Given the description of an element on the screen output the (x, y) to click on. 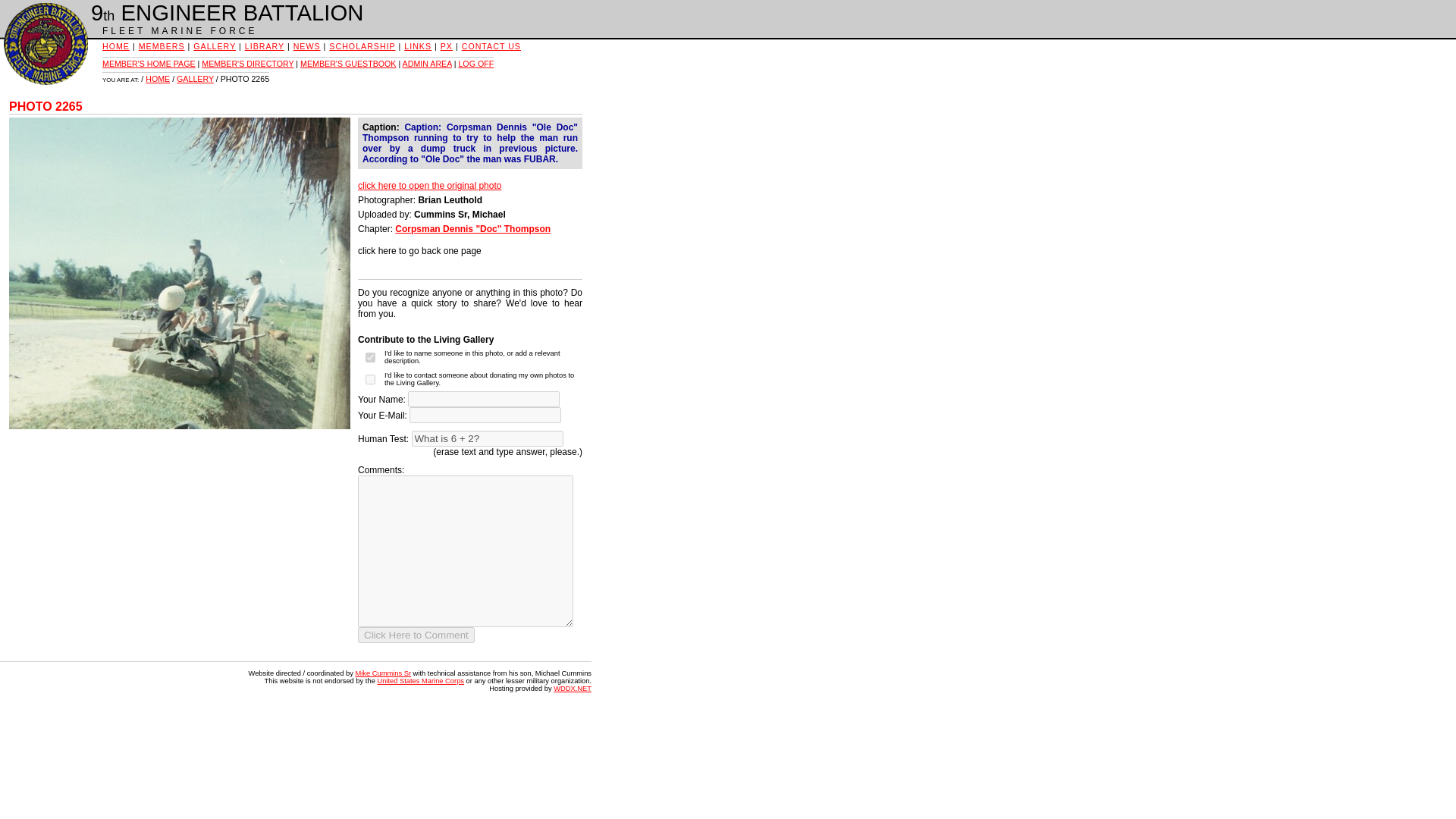
Corpsman Dennis "Doc" Thompson (472, 228)
Mike Cummins Sr (382, 673)
CONTACT US (491, 45)
PX (446, 45)
MEMBER'S GUESTBOOK (347, 62)
GALLERY (214, 45)
MEMBERS (161, 45)
MEMBER'S HOME PAGE (148, 62)
NEWS (307, 45)
Click Here to Comment (416, 634)
9th Engineer Battalion Fleet Marine Force (43, 43)
SCHOLARSHIP (361, 45)
WDDX.NET (572, 688)
click here to open the original photo (429, 185)
MEMBER'S DIRECTORY (248, 62)
